Given the description of an element on the screen output the (x, y) to click on. 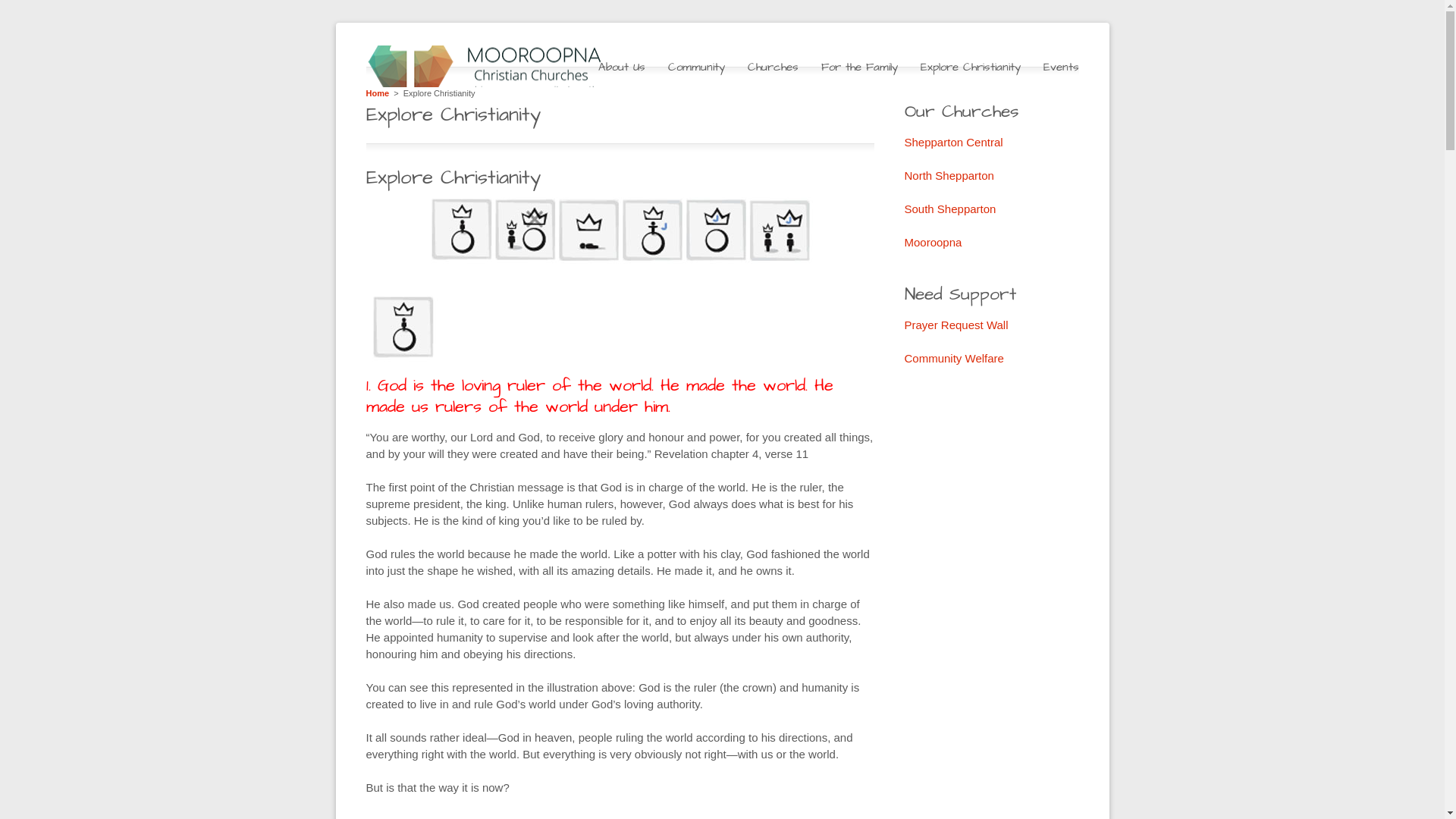
About Us Element type: text (620, 67)
Tweet Element type: text (765, 171)
Christianity Explored Element type: hover (619, 230)
Community Element type: text (695, 67)
Step 1 Element type: hover (403, 327)
Community Welfare Element type: text (953, 357)
Mooroopna Element type: text (932, 241)
Shepparton Central Element type: text (952, 141)
North Shepparton Element type: text (948, 175)
Explore Christianity Element type: text (970, 67)
South Shepparton Element type: text (949, 208)
Churches Element type: text (772, 67)
Shepparton Churches Element type: text (497, 66)
Events Element type: text (1061, 67)
Home Element type: text (377, 92)
Prayer Request Wall Element type: text (955, 324)
For the Family Element type: text (858, 67)
